Given the description of an element on the screen output the (x, y) to click on. 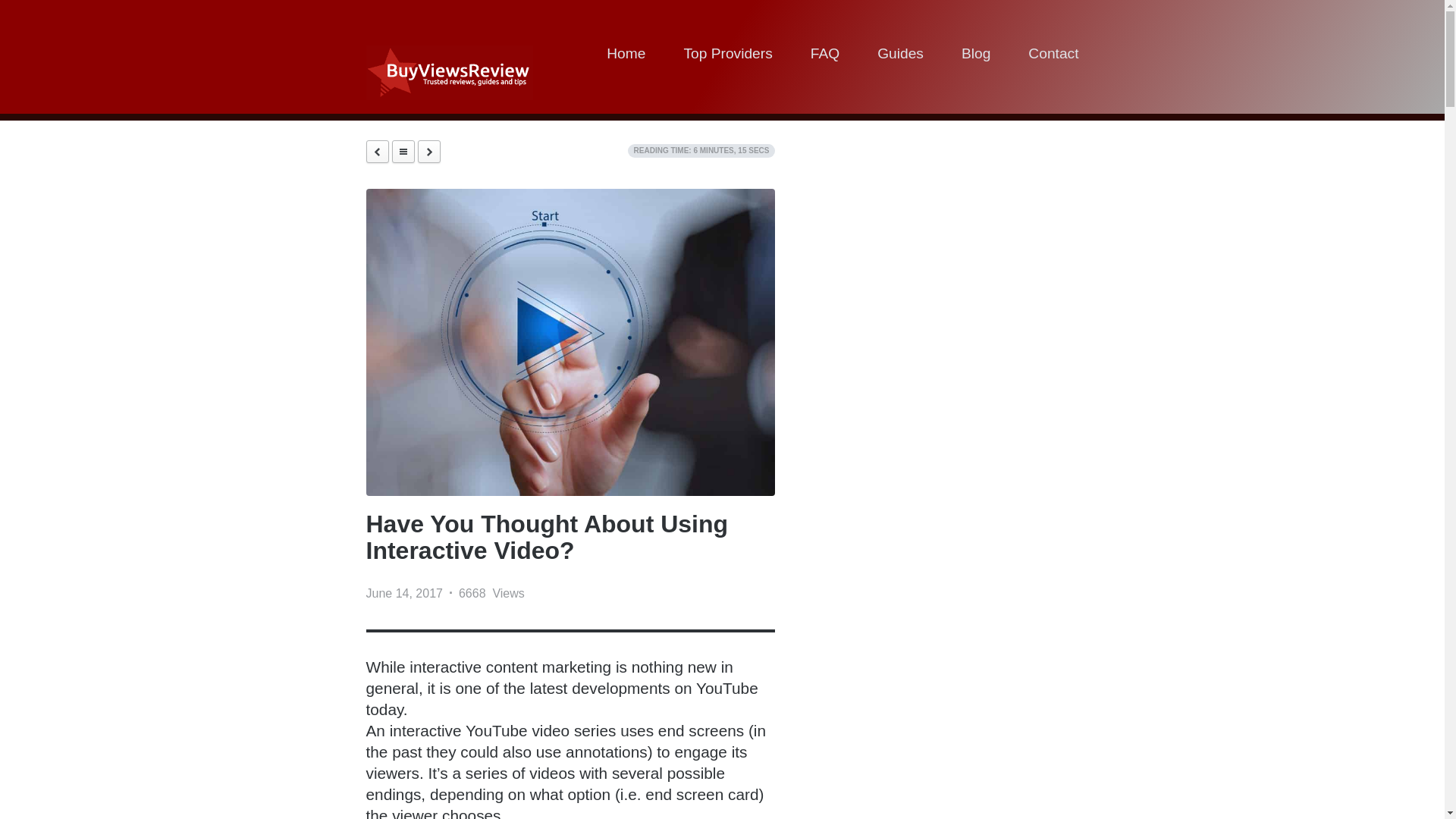
Contact (1052, 55)
FAQ (825, 55)
Blog (975, 55)
Top Providers (726, 55)
Home (626, 55)
Guides (900, 55)
